Given the description of an element on the screen output the (x, y) to click on. 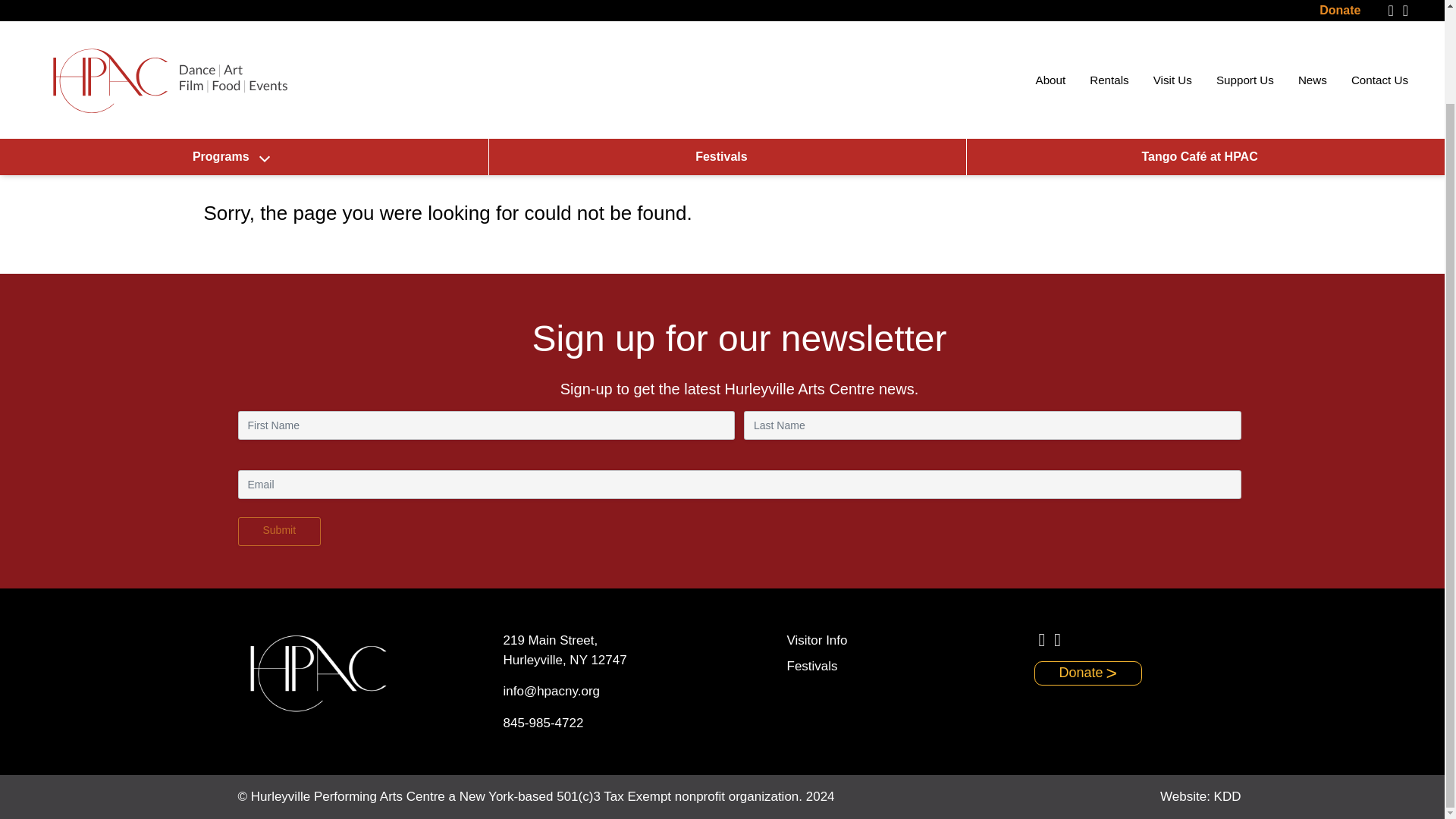
Programs (230, 47)
Submit (279, 531)
Hurleyville Performing Arts Centre (168, 9)
